Given the description of an element on the screen output the (x, y) to click on. 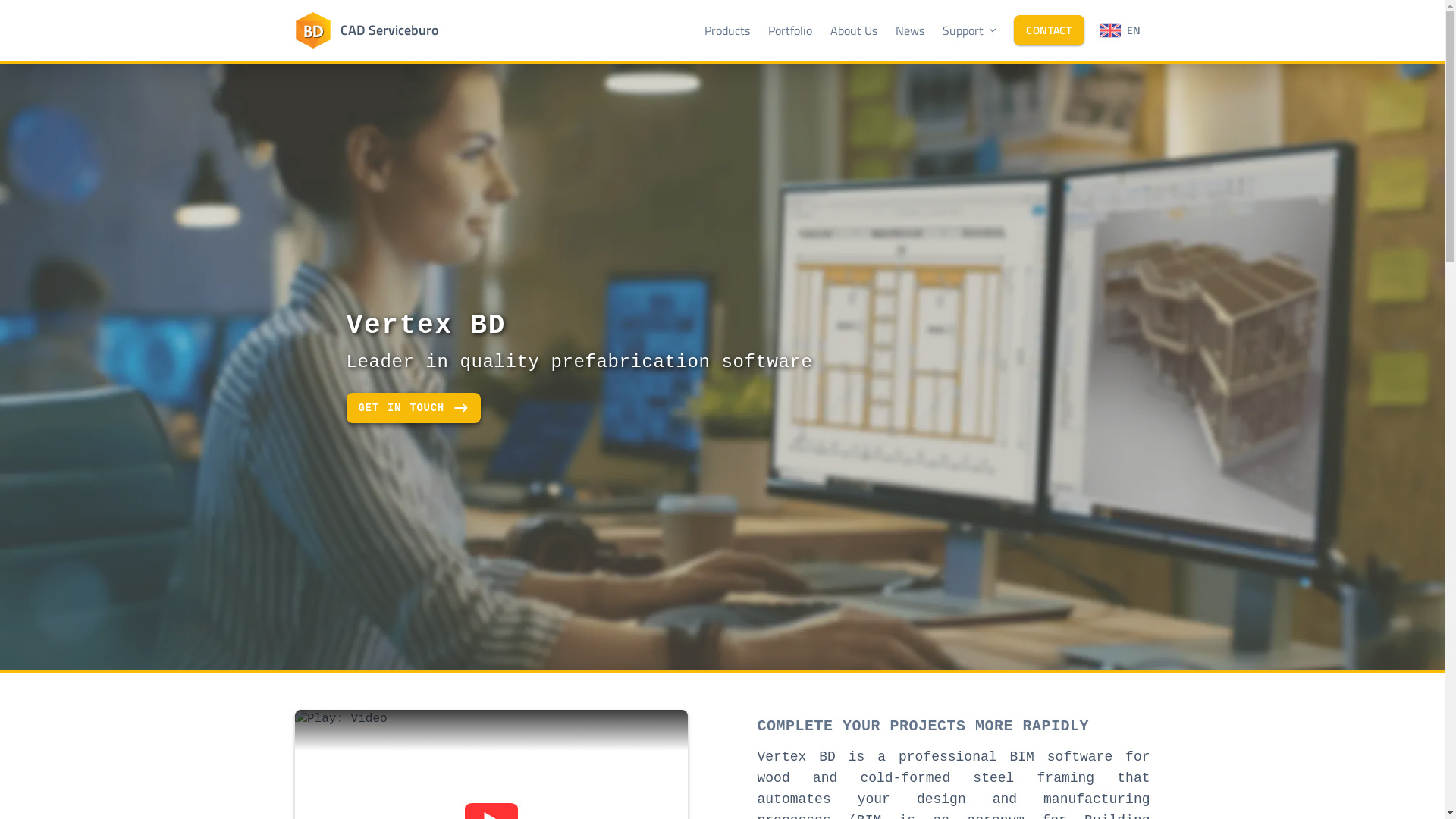
News Element type: text (909, 30)
GET IN TOUCH Element type: text (412, 407)
CONTACT Element type: text (1048, 30)
EN Element type: text (1120, 30)
About Us Element type: text (853, 30)
Support Element type: text (970, 30)
CAD Serviceburo Element type: text (366, 30)
Products Element type: text (727, 30)
Portfolio Element type: text (790, 30)
